Given the description of an element on the screen output the (x, y) to click on. 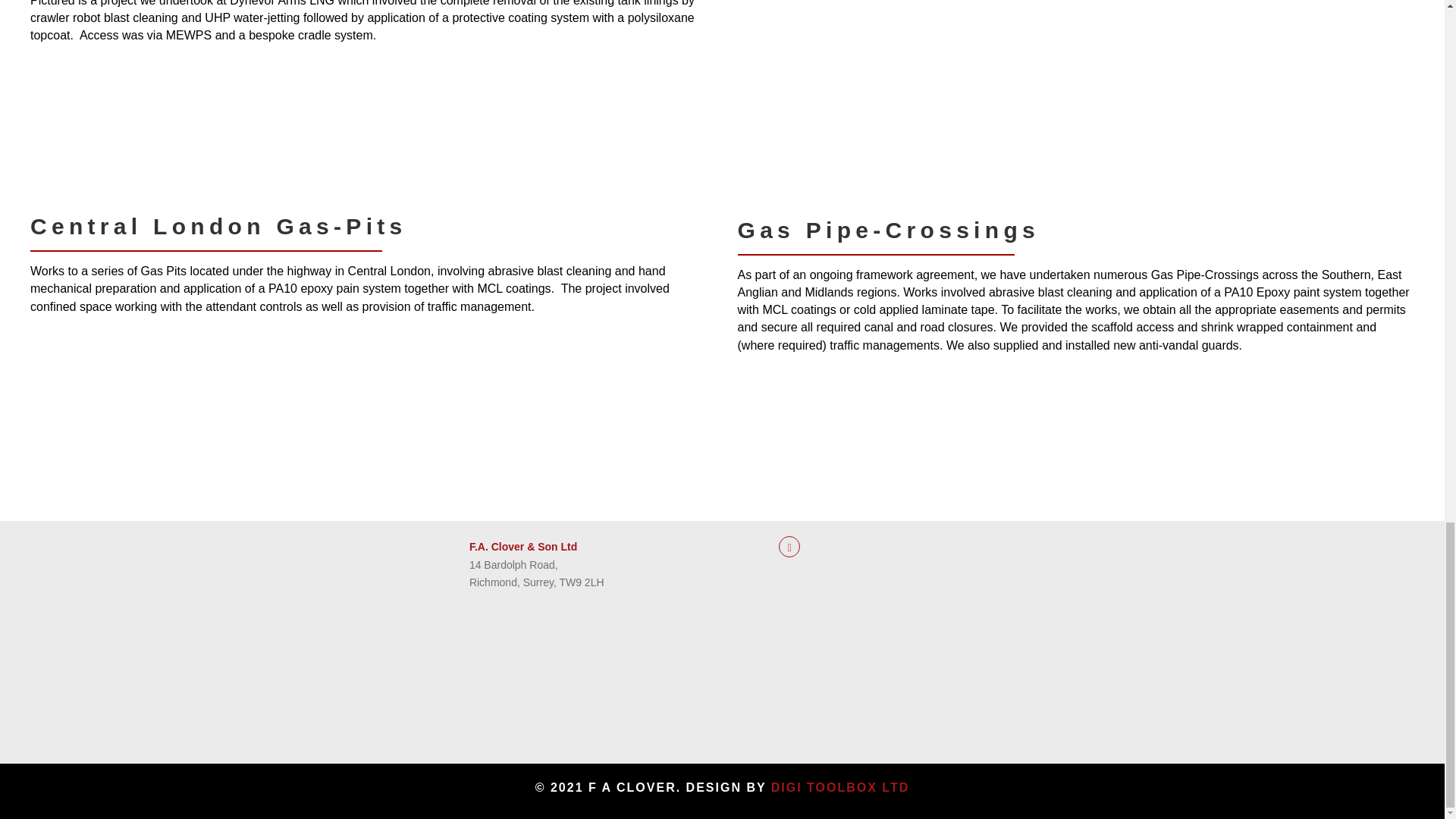
LNG-4 (363, 130)
LNG-2 (174, 130)
LNG-3 (269, 130)
Picture1 (79, 402)
LNG-1 (79, 130)
